Given the description of an element on the screen output the (x, y) to click on. 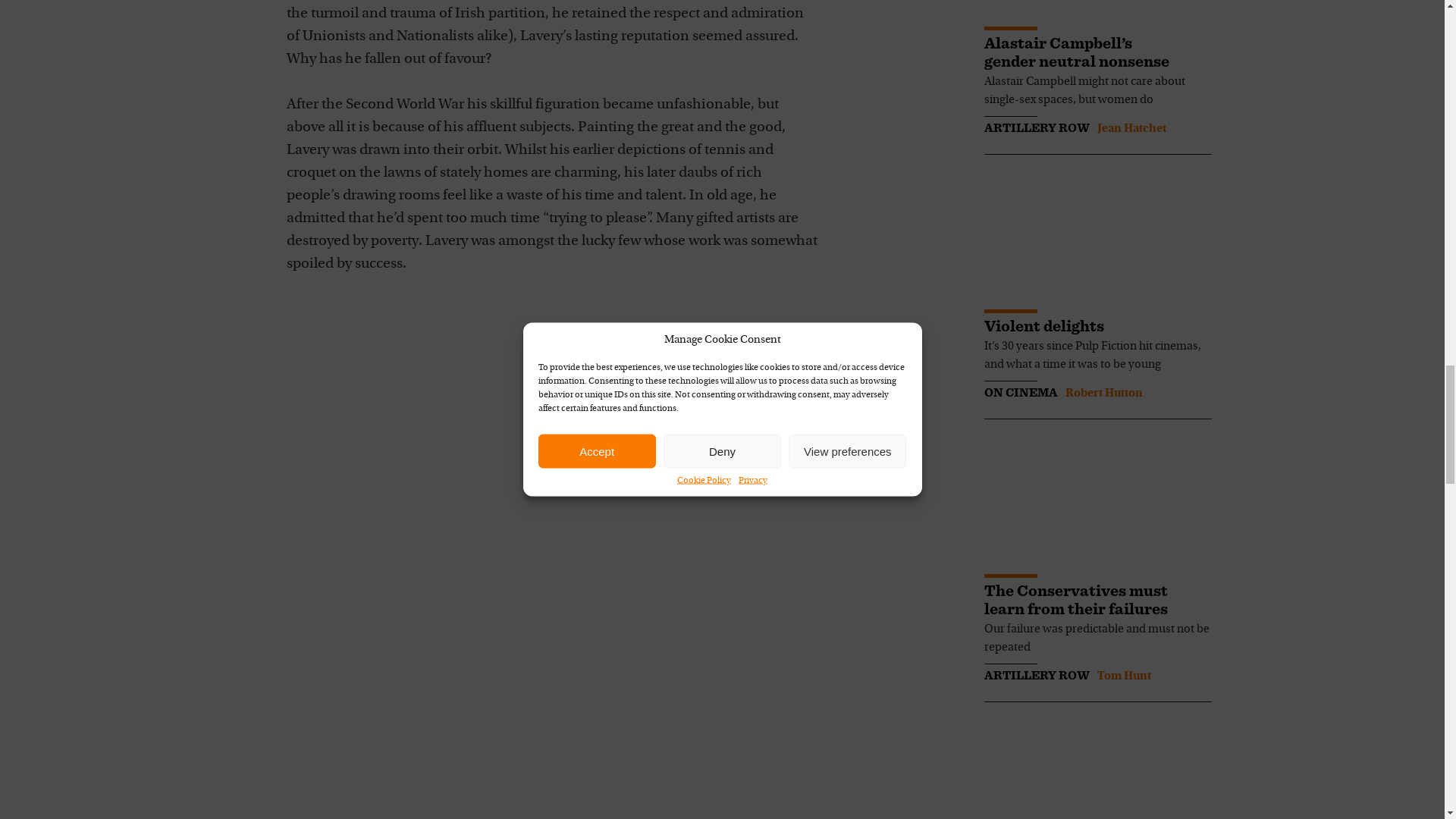
Posts by Jean Hatchet (1131, 128)
Posts by Tom Hunt (1123, 676)
Posts by Robert Hutton (1102, 393)
